Given the description of an element on the screen output the (x, y) to click on. 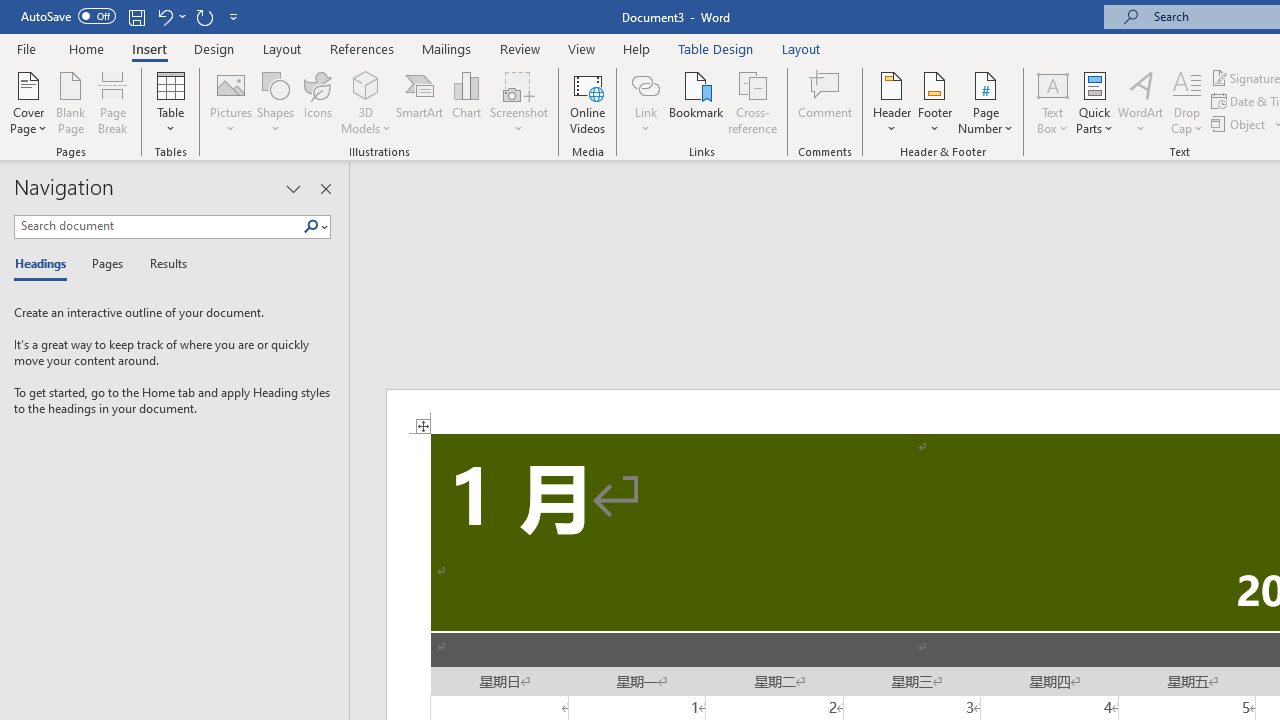
Drop Cap (1187, 102)
Online Videos... (588, 102)
Undo Increase Indent (164, 15)
Link (645, 84)
Pictures (230, 102)
Footer (934, 102)
Text Box (1052, 102)
WordArt (1141, 102)
